Given the description of an element on the screen output the (x, y) to click on. 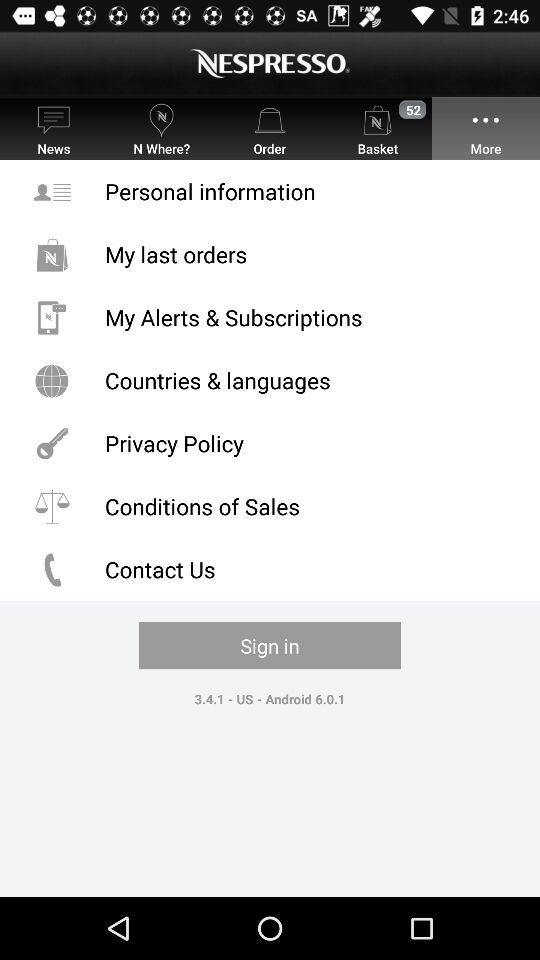
swipe until personal information icon (270, 191)
